Given the description of an element on the screen output the (x, y) to click on. 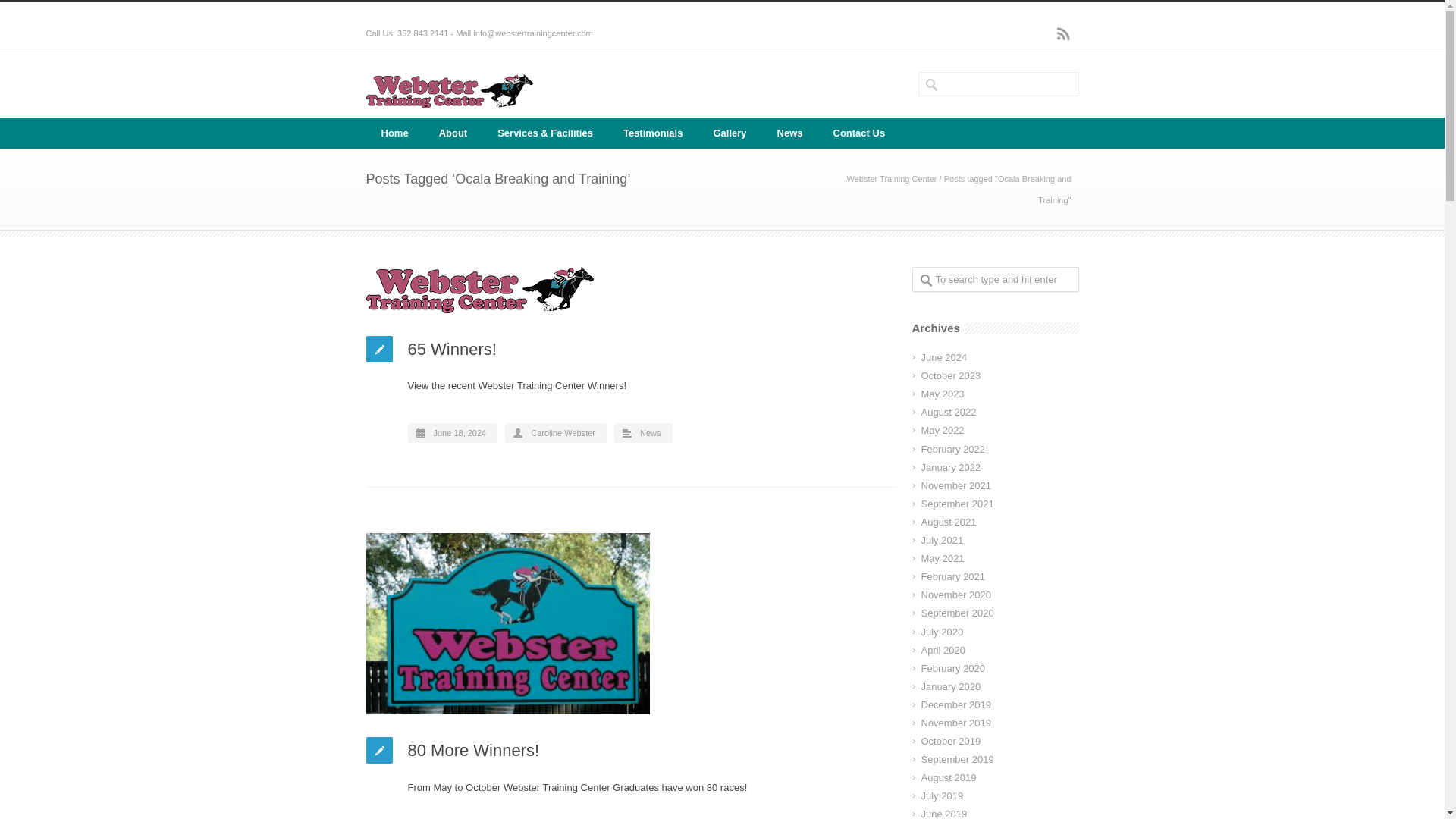
About (453, 132)
Permalink to 80 More Winners! (630, 623)
80 More Winners! (473, 750)
Permalink to 80 More Winners! (473, 750)
Gallery (729, 132)
To search type and hit enter (994, 278)
Search (68, 11)
Permalink to 65 Winners! (451, 348)
RSS (1063, 33)
Permalink to 65 Winners! (630, 289)
Testimonials (653, 132)
65 Winners! (451, 348)
Contact Us (857, 132)
Home (394, 132)
Webster Training Center (890, 178)
